Given the description of an element on the screen output the (x, y) to click on. 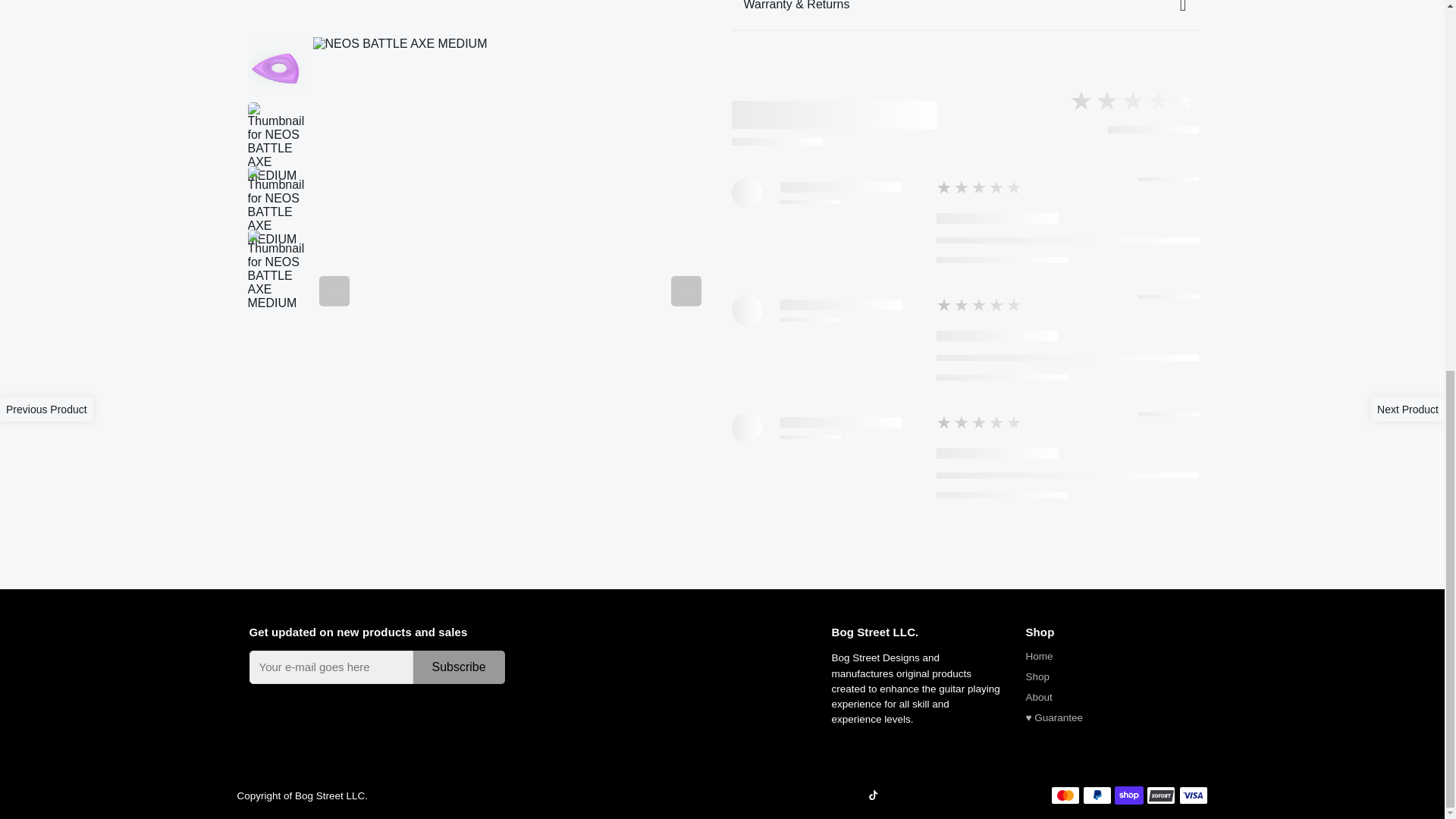
Shop Pay (1128, 795)
SOFORT (1160, 795)
Visa (1192, 795)
Mastercard (1065, 795)
PayPal (1097, 795)
